Given the description of an element on the screen output the (x, y) to click on. 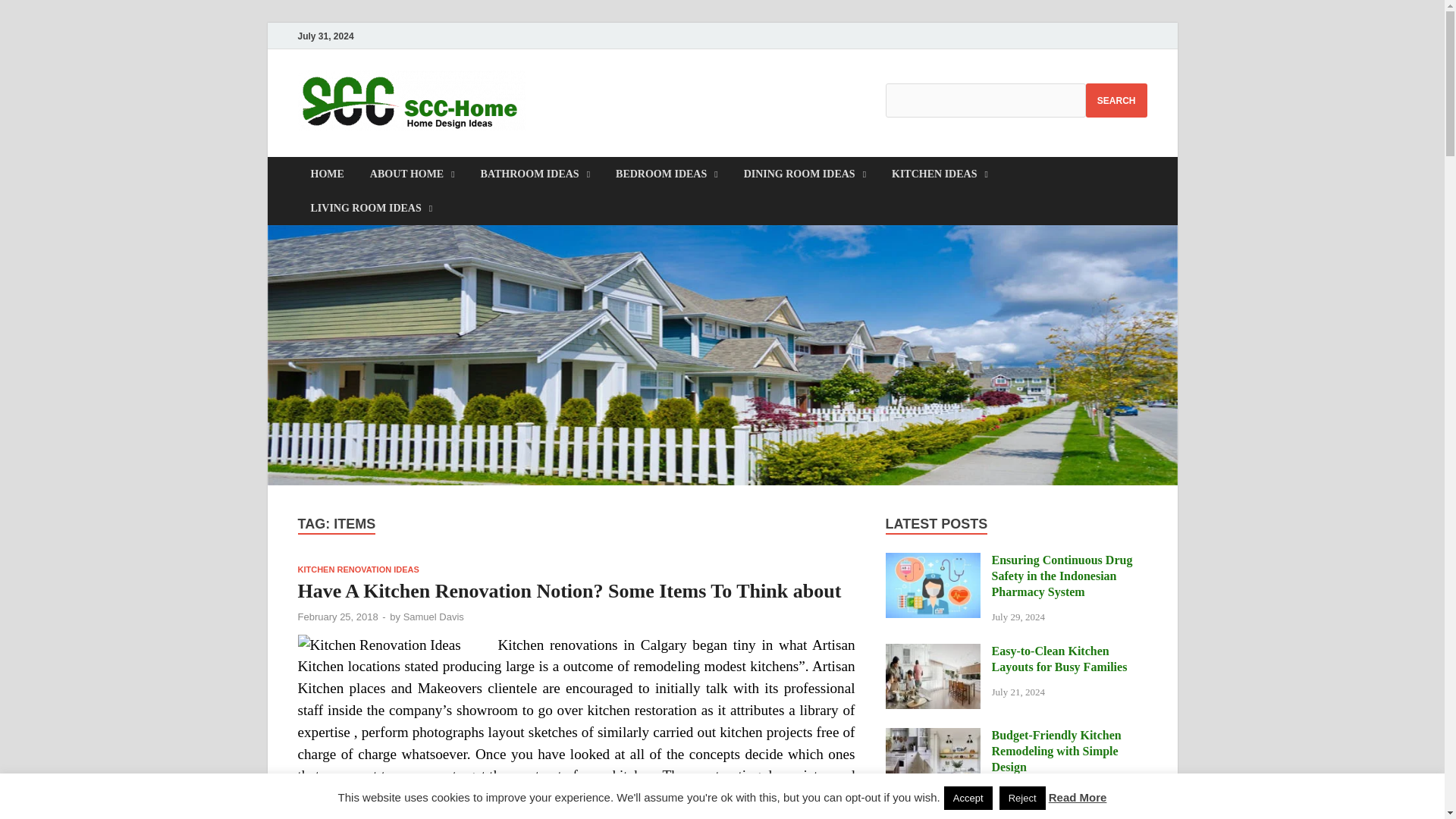
DINING ROOM IDEAS (804, 173)
BEDROOM IDEAS (666, 173)
Budget-Friendly Kitchen Remodeling with Simple Design (932, 736)
BATHROOM IDEAS (534, 173)
SEARCH (1116, 100)
Easy-to-Clean Kitchen Layouts for Busy Families (932, 652)
ABOUT HOME (411, 173)
SCC-Home (608, 100)
HOME (326, 173)
